Given the description of an element on the screen output the (x, y) to click on. 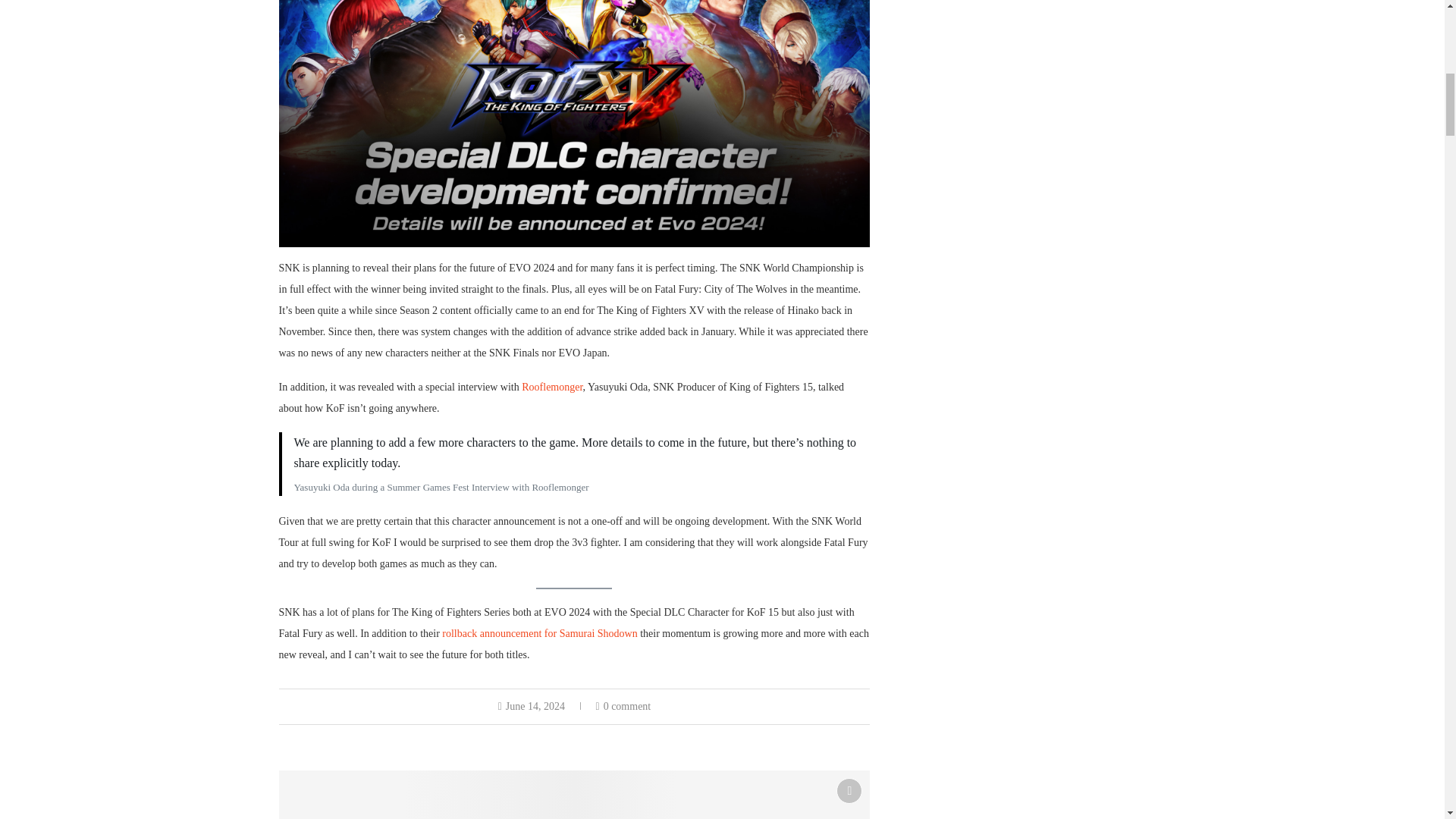
SF6-Y2-Featured (574, 794)
